Given the description of an element on the screen output the (x, y) to click on. 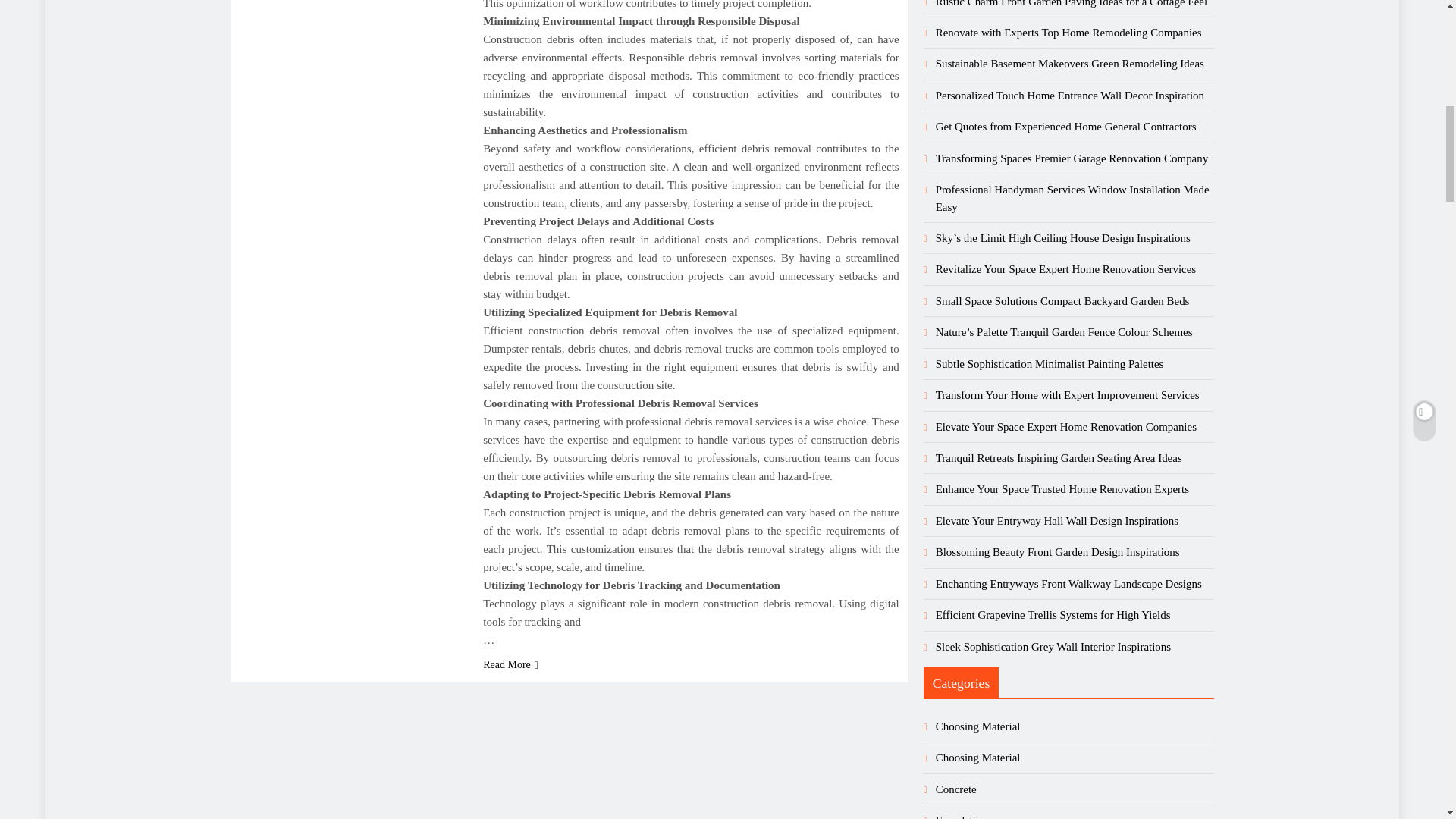
Rustic Charm Front Garden Paving Ideas for a Cottage Feel (1071, 3)
Read More (510, 664)
